Given the description of an element on the screen output the (x, y) to click on. 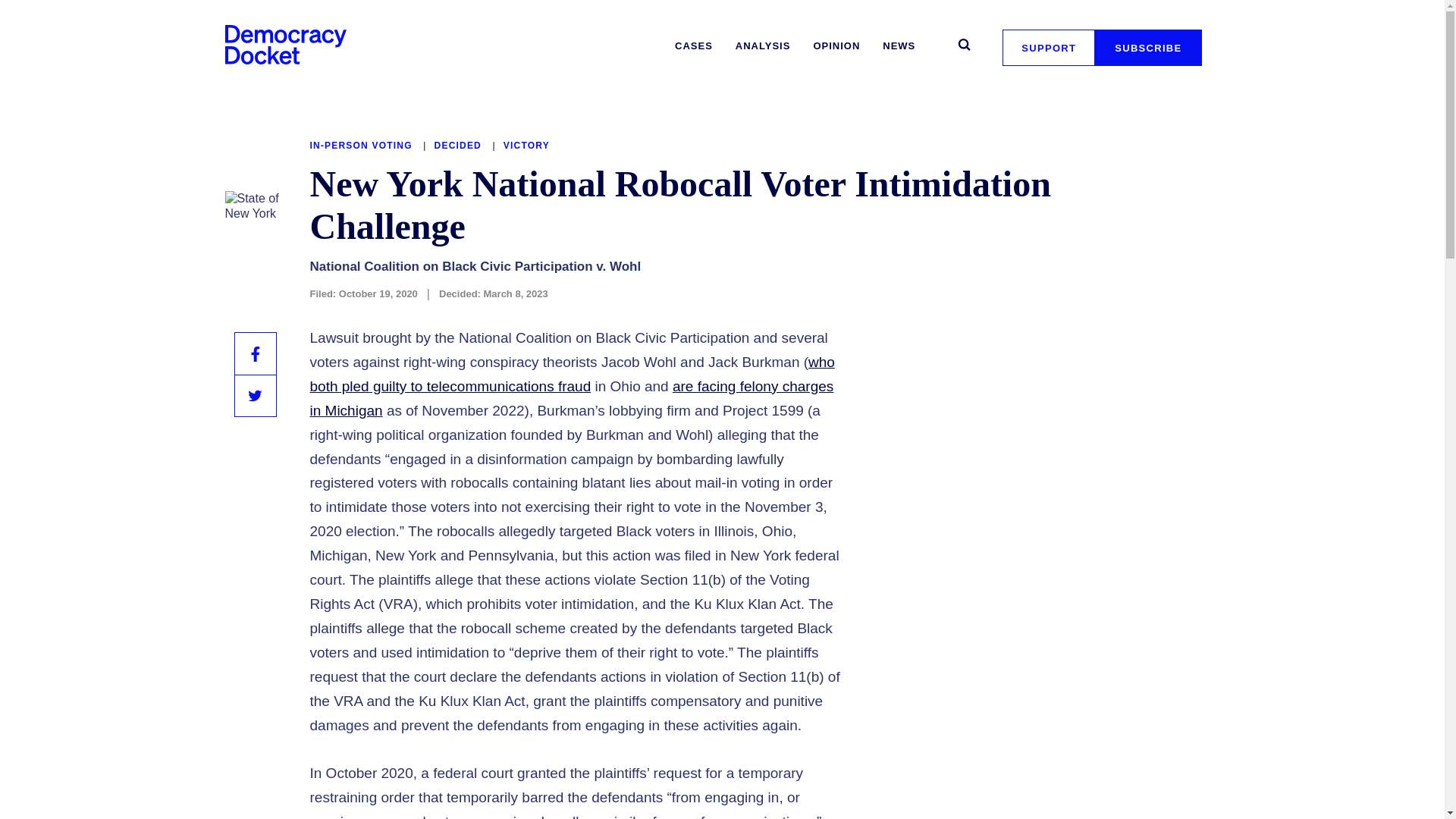
who both pled guilty to telecommunications fraud (571, 373)
NEWS (898, 46)
VICTORY (526, 145)
IN-PERSON VOTING (361, 145)
SUPPORT (1048, 47)
ANALYSIS (762, 46)
SUBSCRIBE (1147, 47)
DECIDED (458, 145)
are facing felony charges in Michigan (570, 398)
Democracy Docket (285, 44)
